Given the description of an element on the screen output the (x, y) to click on. 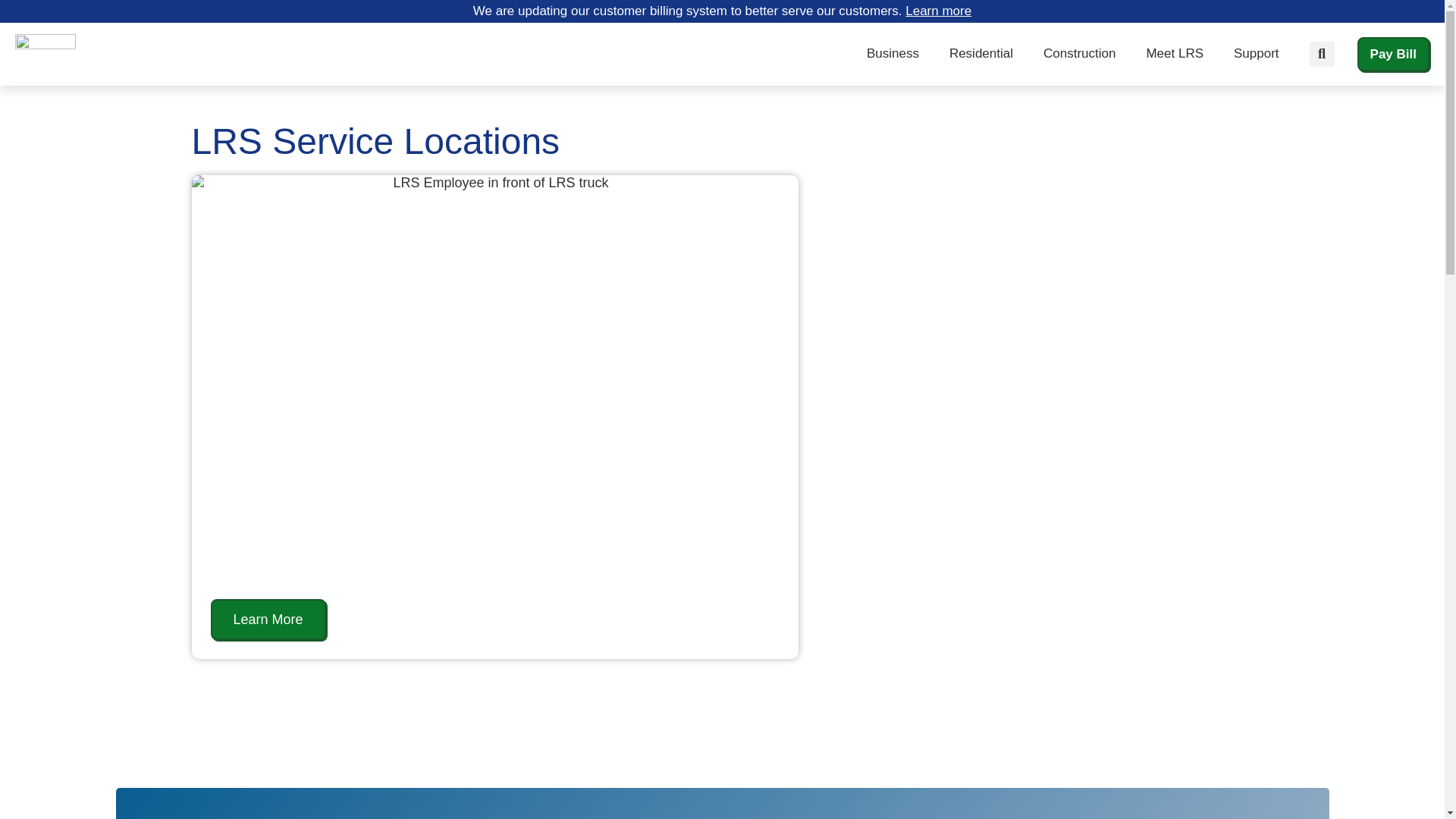
Business (892, 53)
Residential (980, 53)
Support (1256, 53)
Construction (1079, 53)
Meet LRS (1174, 53)
Learn more (938, 11)
